Given the description of an element on the screen output the (x, y) to click on. 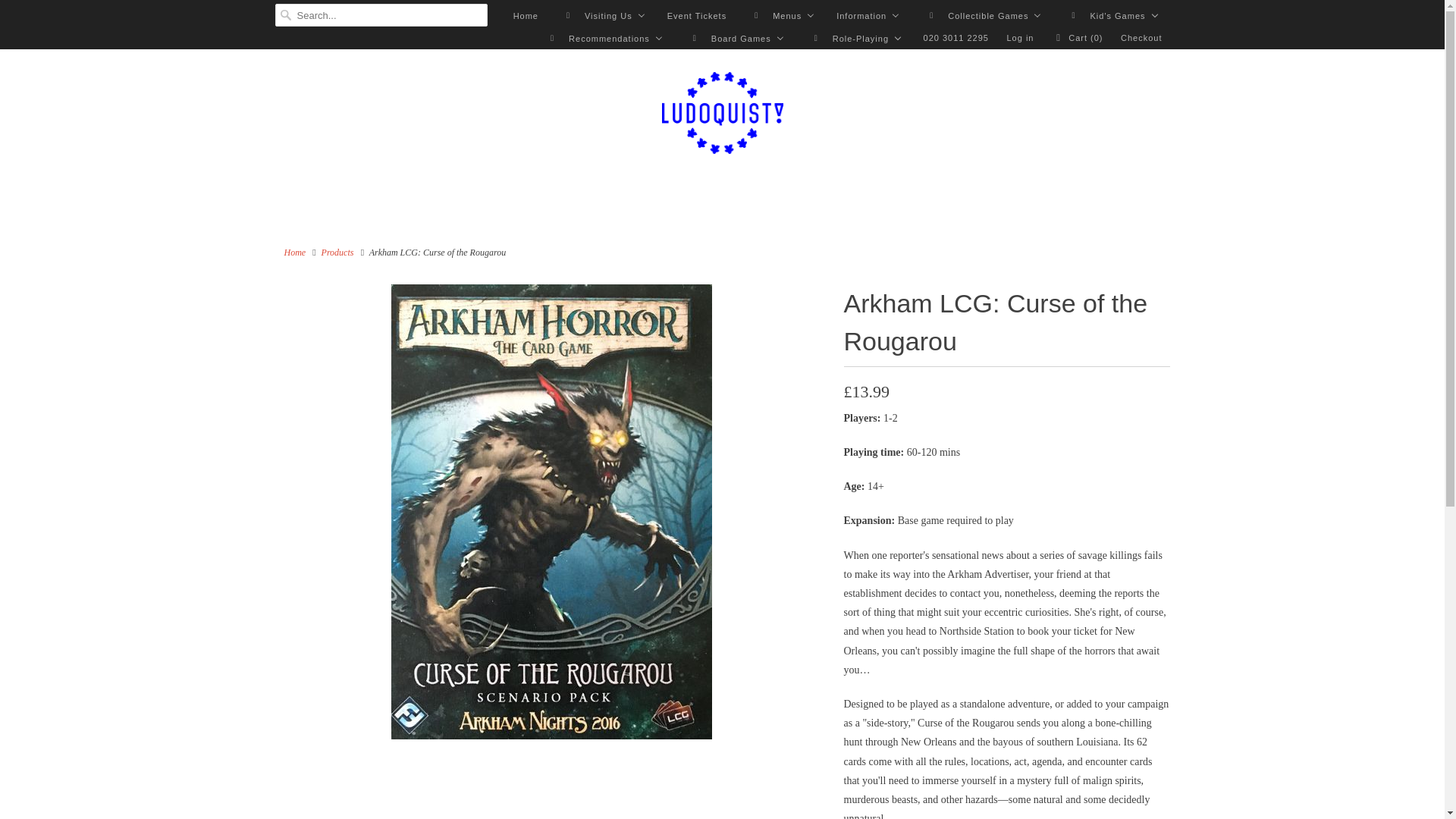
Home (525, 15)
The Ludoquist (294, 252)
Information (867, 15)
Event Tickets (695, 15)
The Ludoquist (722, 115)
Visiting Us (601, 15)
Collectible Games (981, 15)
Products (337, 252)
Menus (780, 15)
